Given the description of an element on the screen output the (x, y) to click on. 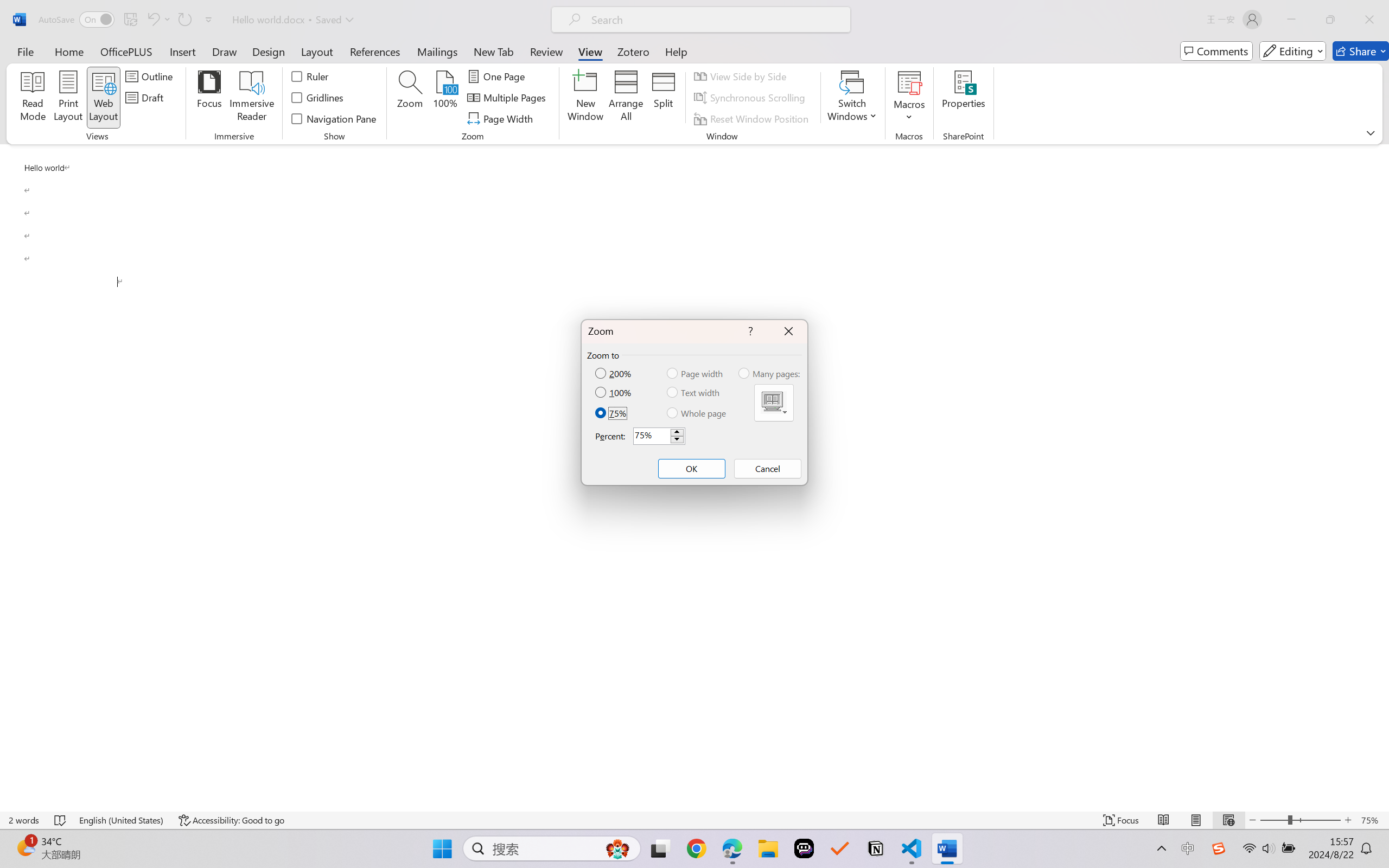
References (375, 51)
Design (268, 51)
Multiple Pages (774, 402)
100% (614, 392)
View Side by Side (741, 75)
Ruler (309, 75)
Notion (875, 848)
AutomationID: DynamicSearchBoxGleamImage (617, 848)
Customize Quick Access Toolbar (208, 19)
Immersive Reader (251, 97)
Can't Repeat (184, 19)
Spelling and Grammar Check No Errors (60, 819)
